Given the description of an element on the screen output the (x, y) to click on. 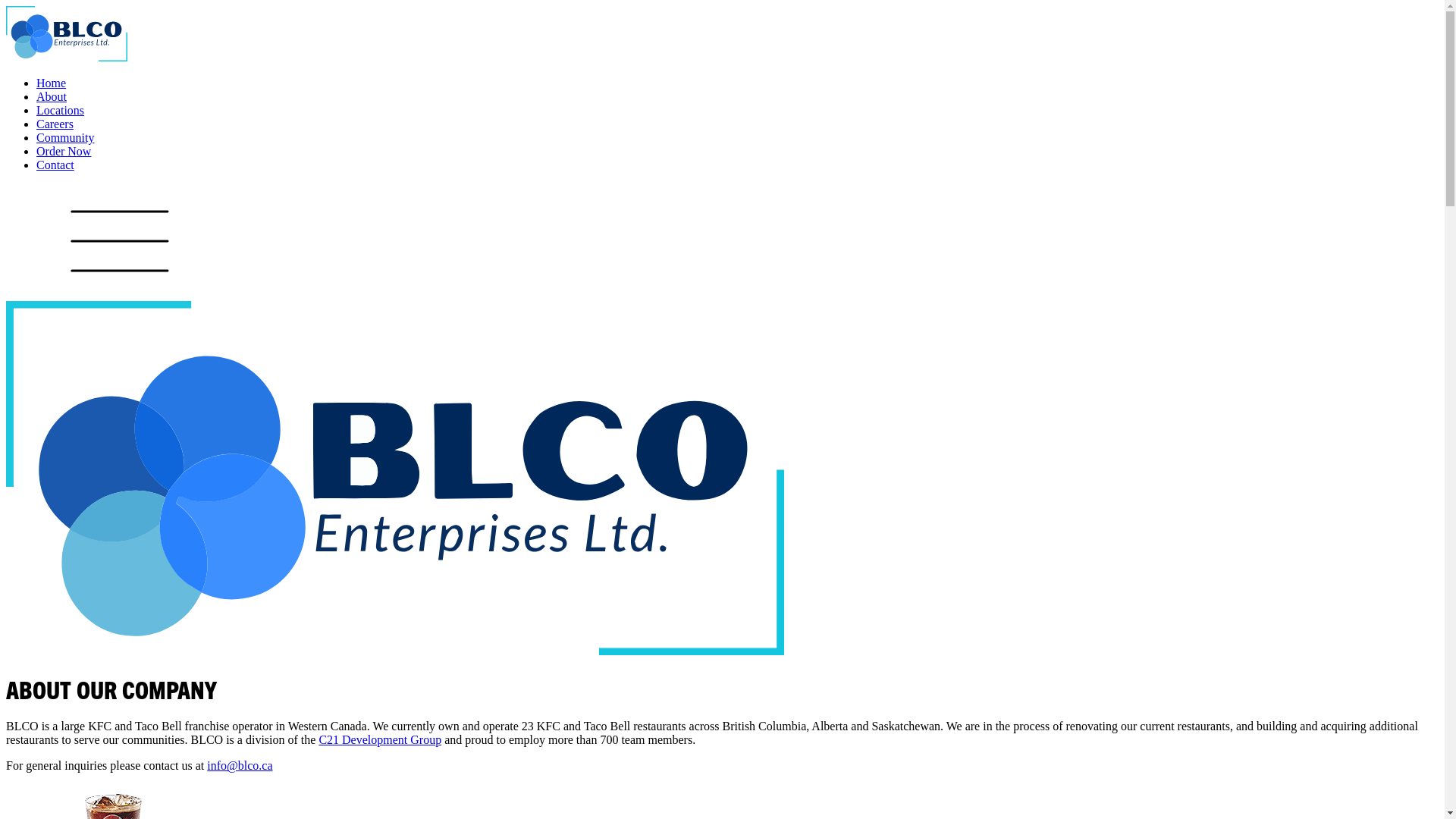
Community Element type: text (65, 137)
C21 Development Group Element type: text (379, 739)
Careers Element type: text (54, 123)
Home Element type: text (50, 82)
Order Now Element type: text (63, 150)
Contact Element type: text (55, 164)
About Element type: text (51, 96)
info@blco.ca Element type: text (239, 765)
Locations Element type: text (60, 109)
